Given the description of an element on the screen output the (x, y) to click on. 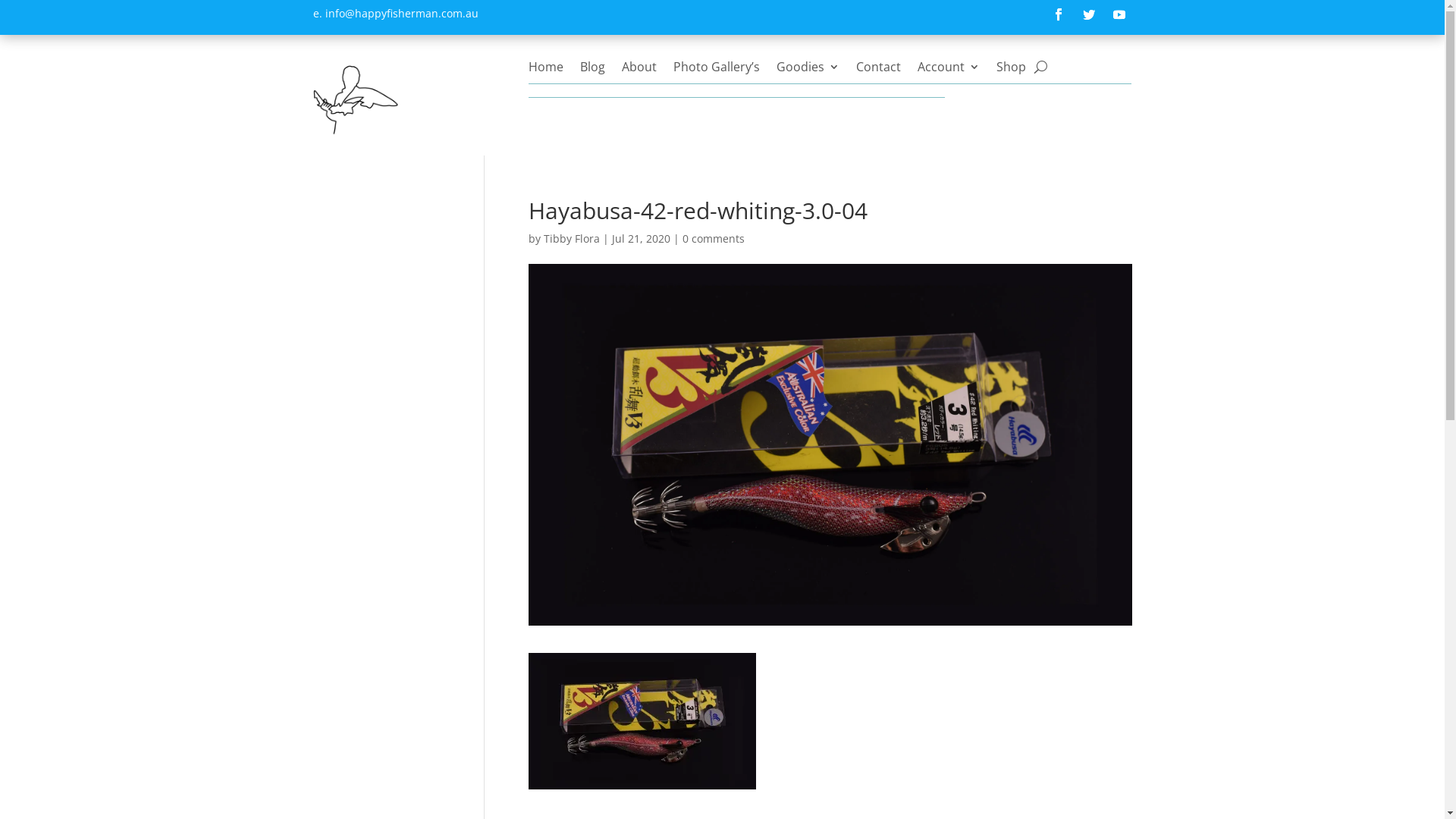
Follow on Facebook Element type: hover (1058, 14)
About Element type: text (638, 69)
cropped-logo-black-600.png Element type: hover (355, 98)
0 comments Element type: text (713, 238)
Follow on Twitter Element type: hover (1088, 14)
Follow on Youtube Element type: hover (1119, 14)
Blog Element type: text (592, 69)
Tibby Flora Element type: text (571, 238)
Home Element type: text (545, 69)
Account Element type: text (948, 69)
Shop Element type: text (1011, 69)
Contact Element type: text (878, 69)
Goodies Element type: text (807, 69)
